Given the description of an element on the screen output the (x, y) to click on. 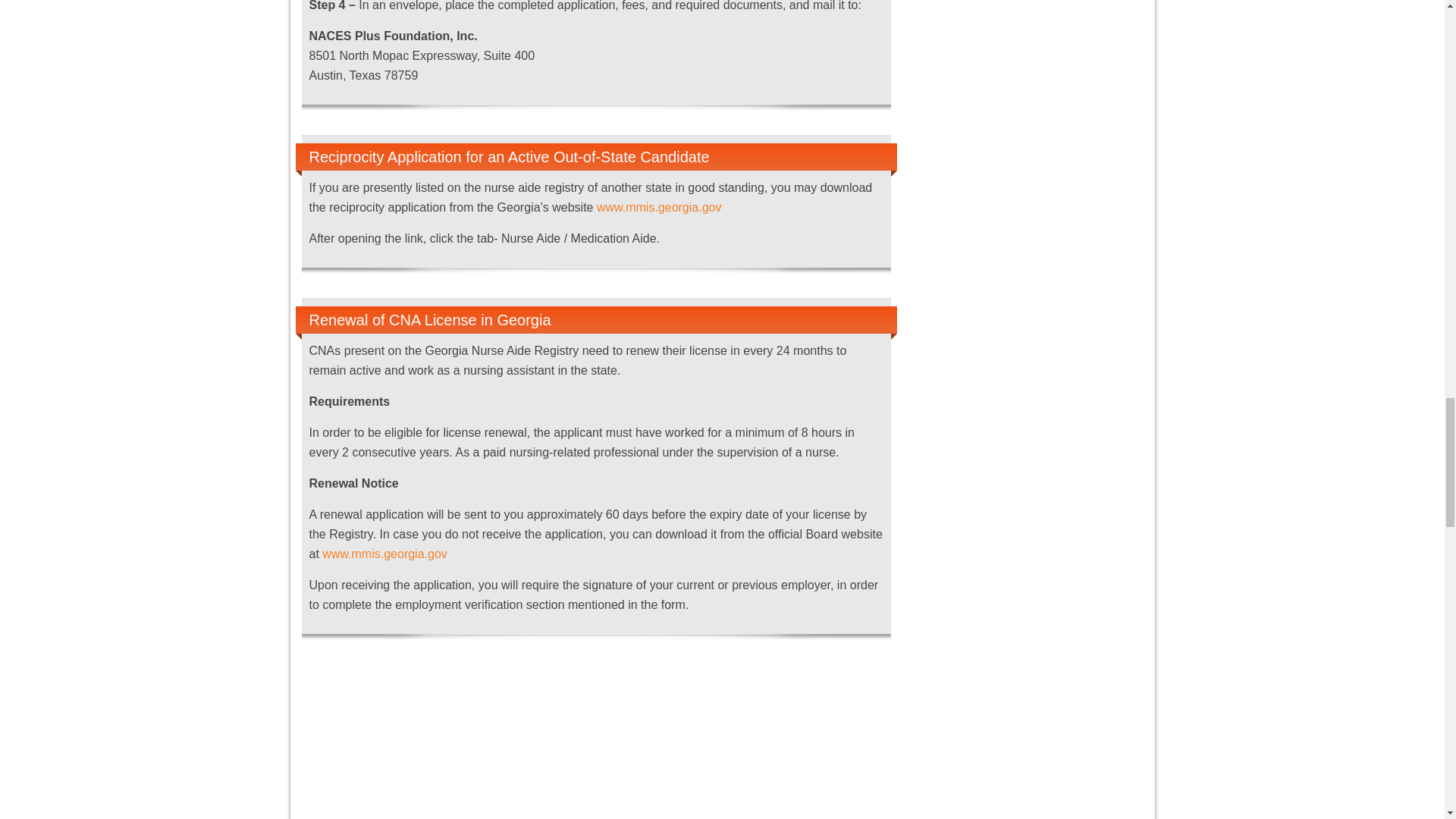
www.mmis.georgia.gov (383, 553)
Advertisement (596, 741)
www.mmis.georgia.gov (659, 206)
